Given the description of an element on the screen output the (x, y) to click on. 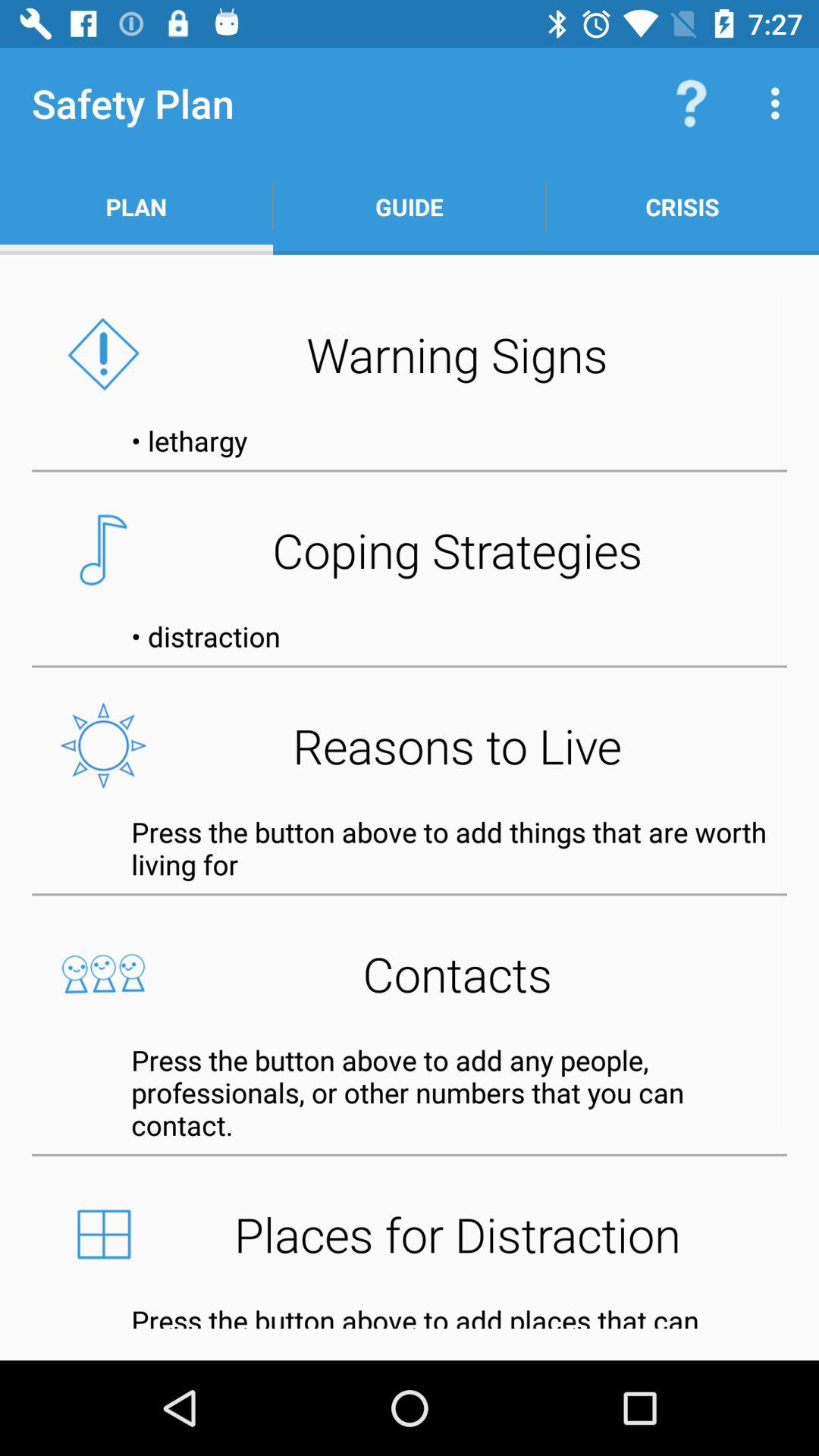
scroll until coping strategies item (409, 549)
